Given the description of an element on the screen output the (x, y) to click on. 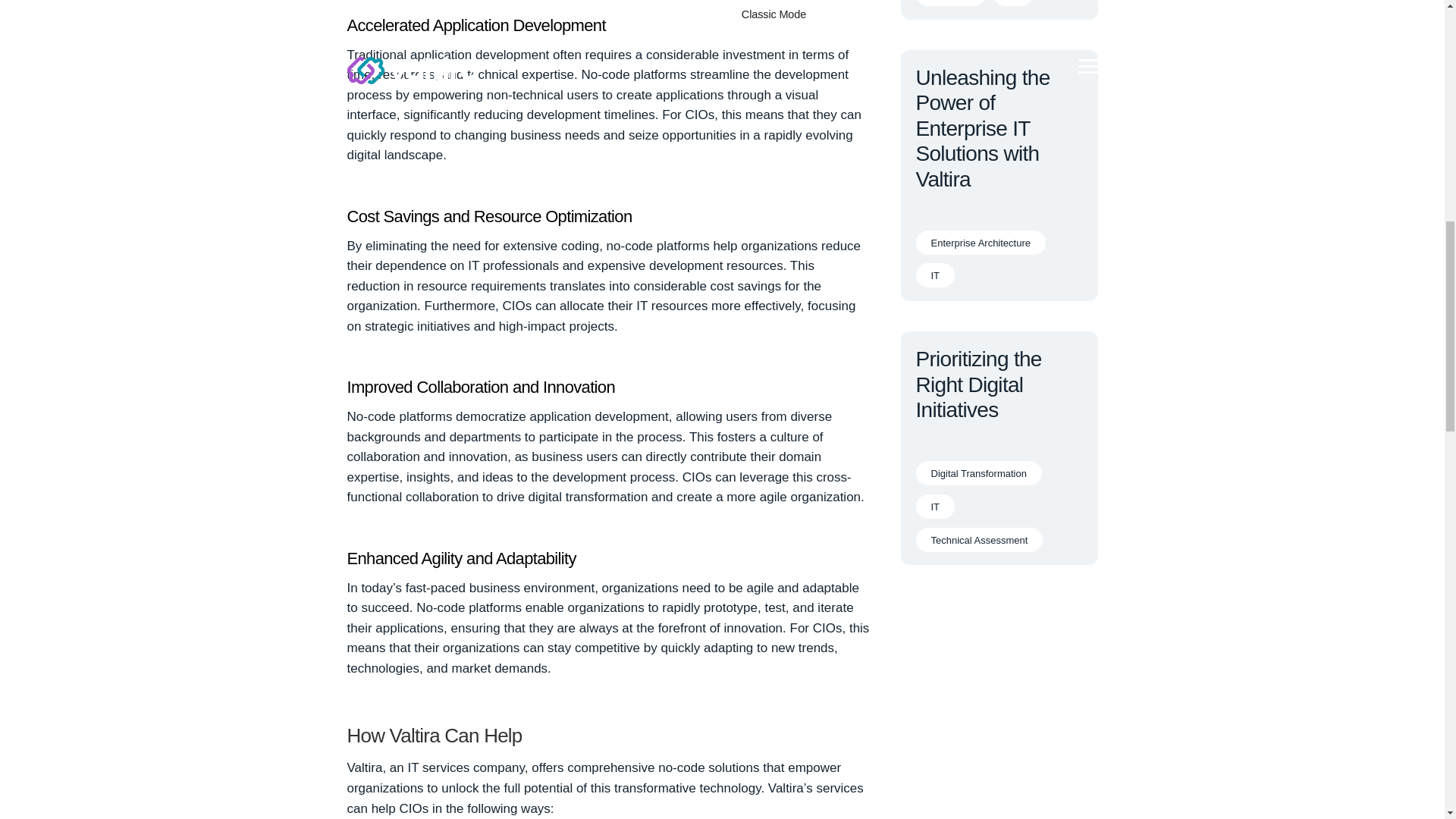
Digital Transformation (978, 473)
IT (935, 506)
Follow on Facebook (954, 618)
IT (935, 274)
Business (951, 2)
Unleashing the Power of Enterprise IT Solutions with Valtira (982, 128)
Follow on Twitter (1014, 618)
Follow on LinkedIn (1044, 618)
Technical Assessment (979, 539)
Follow on Instagram (983, 618)
